Given the description of an element on the screen output the (x, y) to click on. 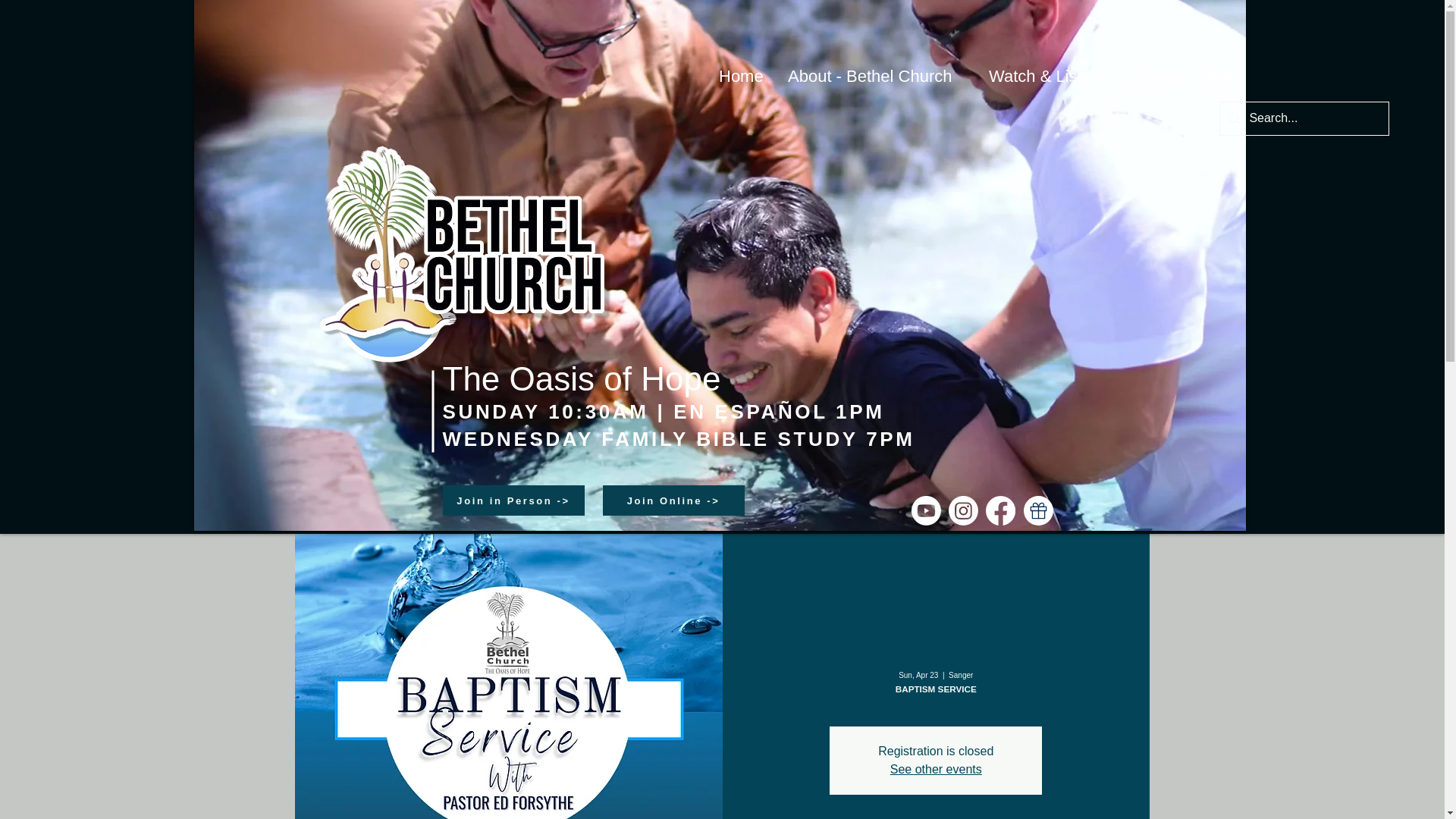
About - Bethel Church (876, 75)
See other events (935, 768)
Home (741, 75)
Events (1157, 75)
